Given the description of an element on the screen output the (x, y) to click on. 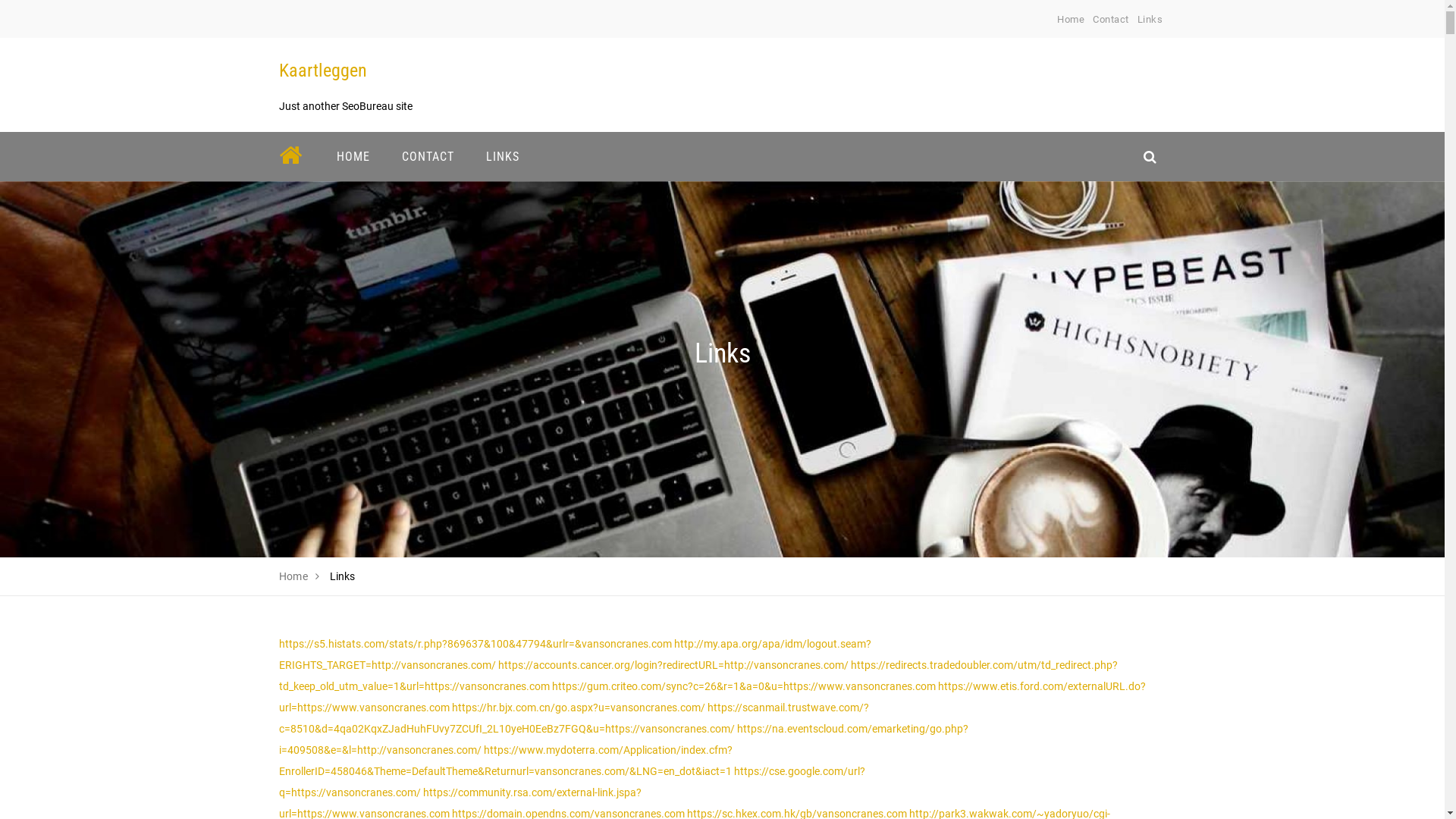
Home Element type: text (293, 576)
search_icon Element type: hover (1148, 156)
CONTACT Element type: text (427, 156)
https://cse.google.com/url?q=https://vansoncranes.com/ Element type: text (572, 781)
LINKS Element type: text (502, 156)
Kaartleggen Element type: text (323, 70)
Links Element type: text (1150, 19)
HOME Element type: text (352, 156)
Contact Element type: text (1110, 19)
Home Element type: text (1070, 19)
https://hr.bjx.com.cn/go.aspx?u=vansoncranes.com/ Element type: text (578, 707)
